Given the description of an element on the screen output the (x, y) to click on. 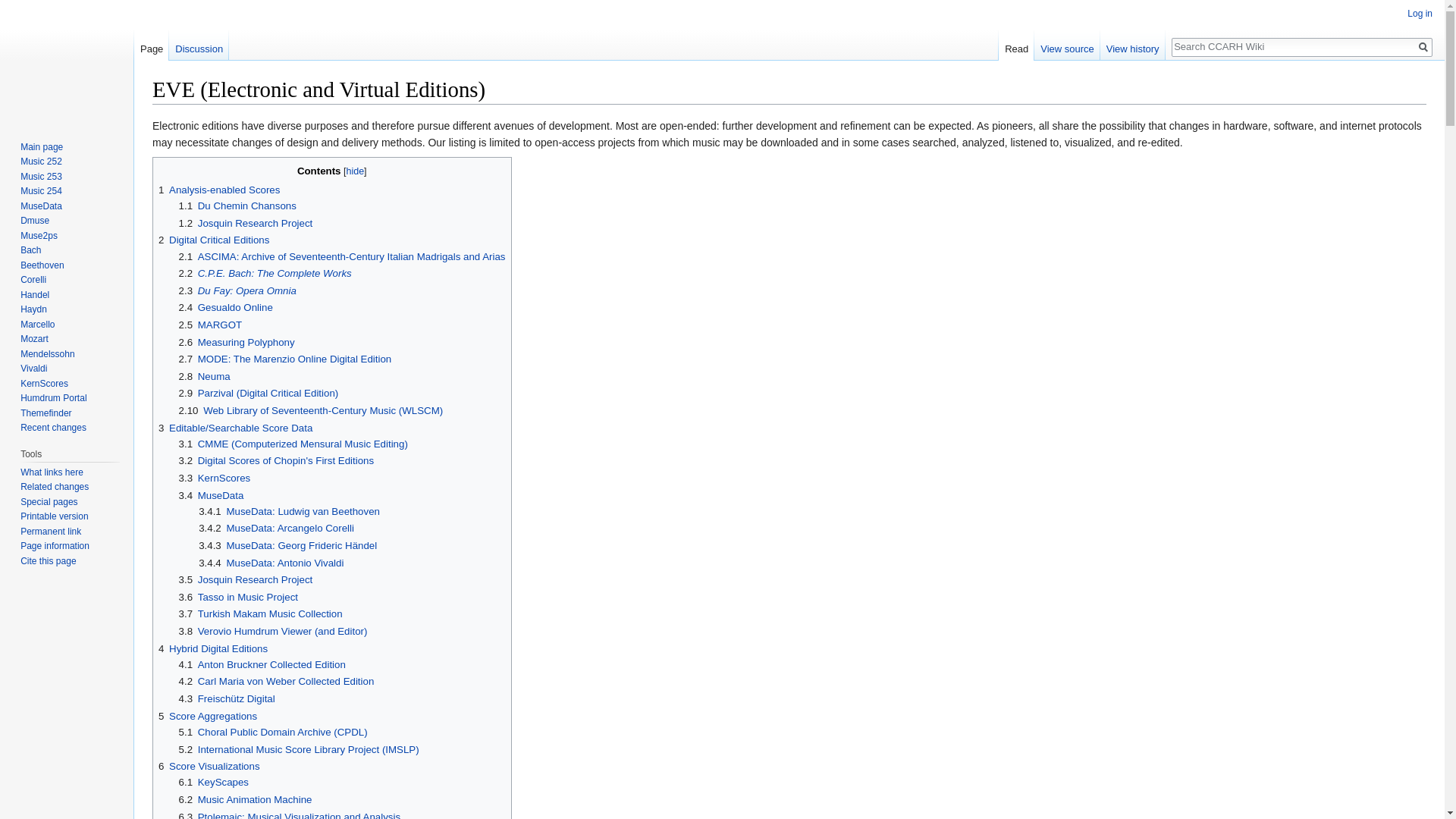
4.2 Carl Maria von Weber Collected Edition (276, 681)
4 Hybrid Digital Editions (212, 648)
4.1 Anton Bruckner Collected Edition (262, 664)
5 Score Aggregations (207, 715)
3.2 Digital Scores of Chopin's First Editions (276, 460)
1 Analysis-enabled Scores (218, 189)
3.3 KernScores (214, 478)
3.4 MuseData (211, 495)
2.4 Gesualdo Online (226, 307)
